Given the description of an element on the screen output the (x, y) to click on. 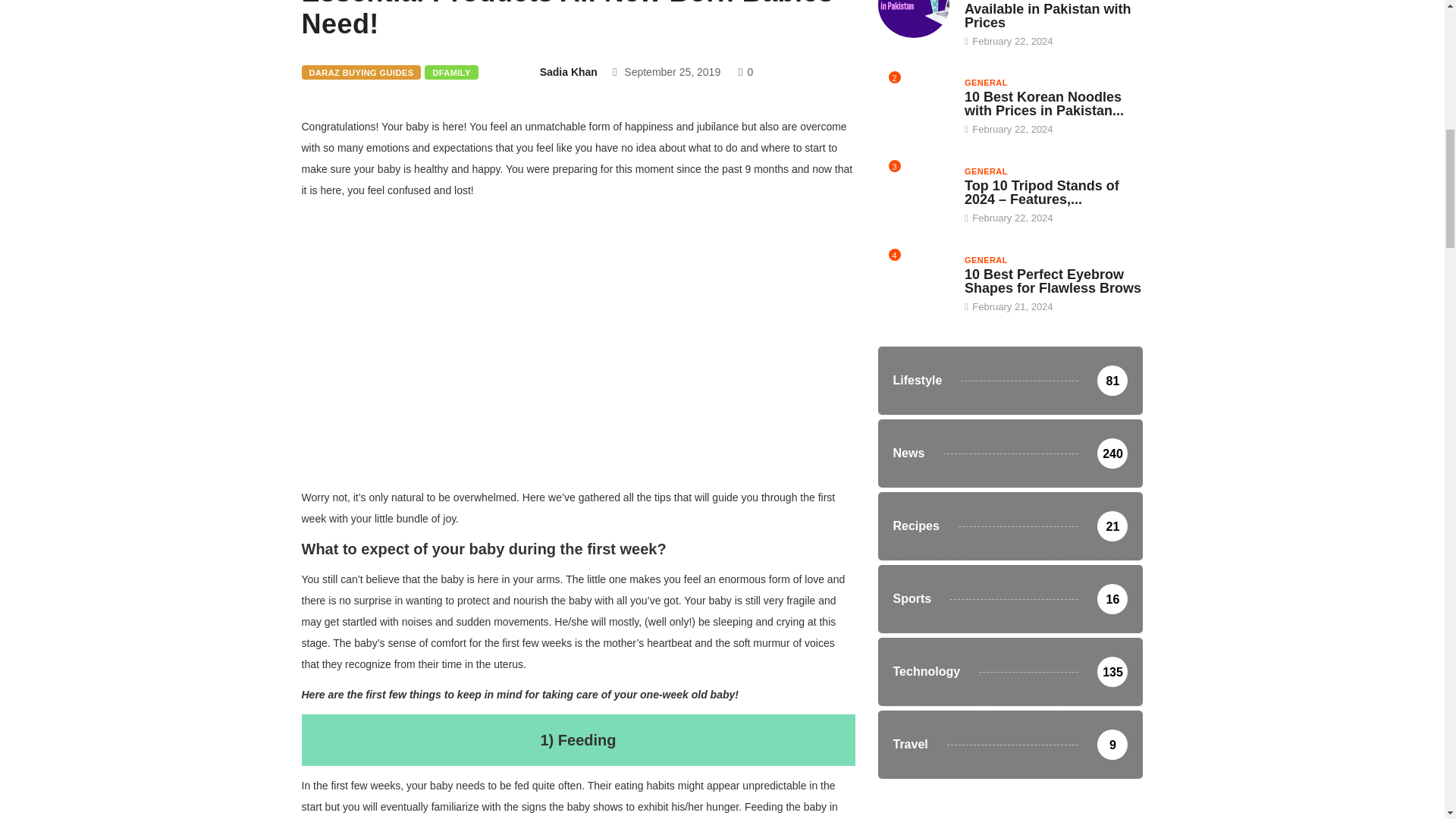
DARAZ BUYING GUIDES (361, 72)
Sadia Khan (568, 70)
DFAMILY (451, 72)
